Given the description of an element on the screen output the (x, y) to click on. 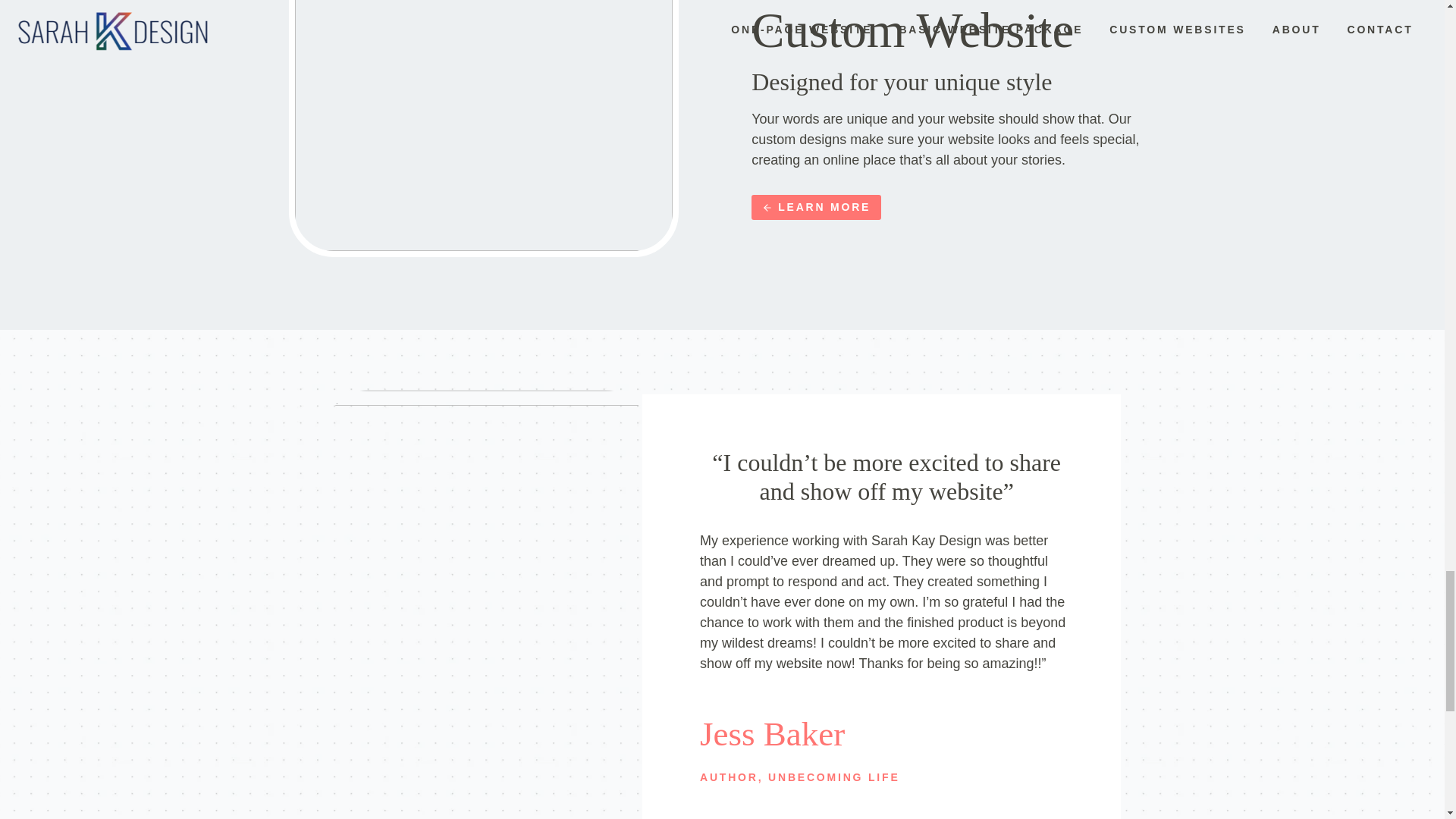
LEARN MORE (815, 207)
